Given the description of an element on the screen output the (x, y) to click on. 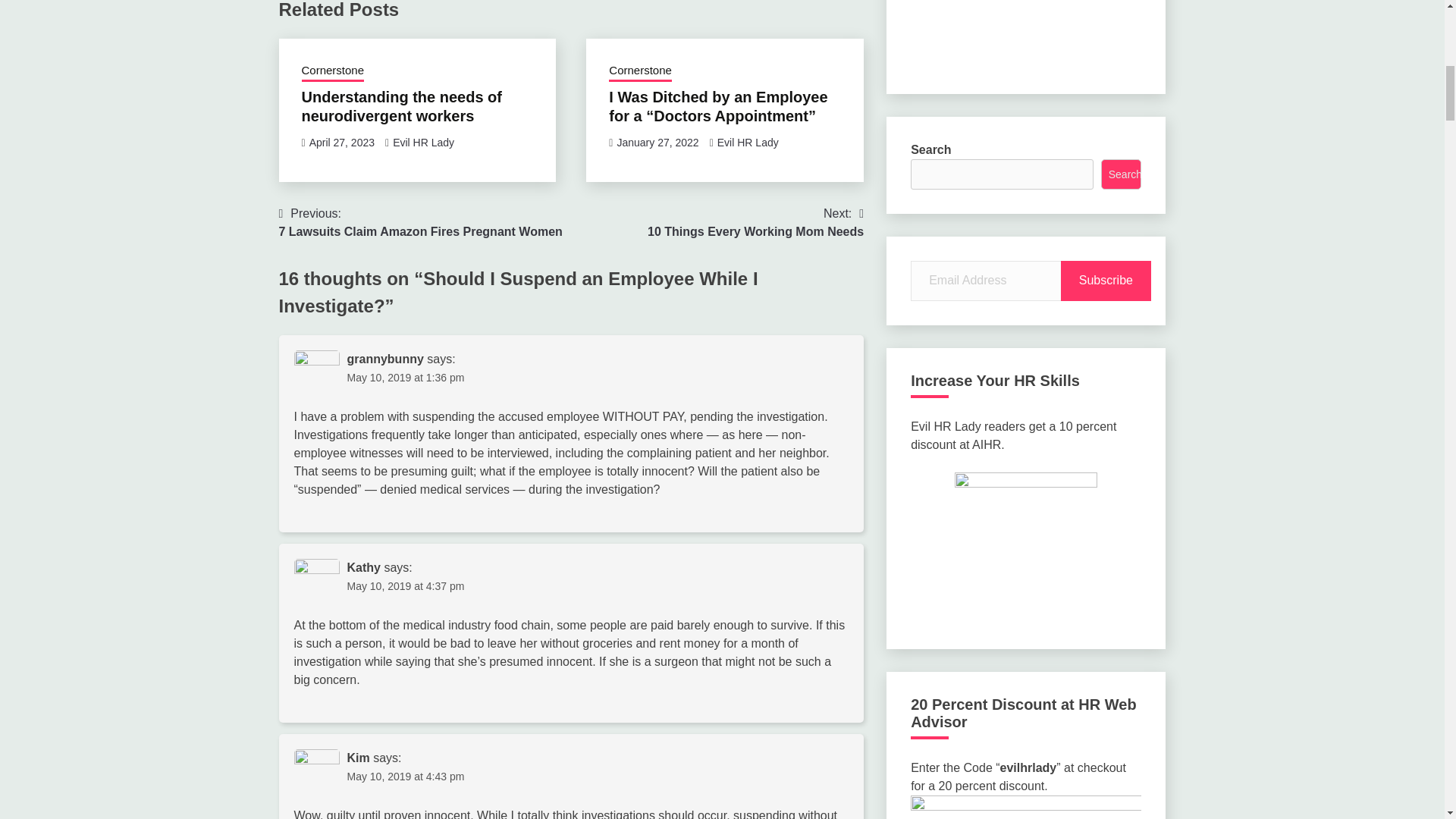
Cornerstone (639, 71)
Please fill in this field. (420, 222)
Evil HR Lady (986, 281)
Cornerstone (423, 142)
May 10, 2019 at 1:36 pm (333, 71)
Evil HR Lady (755, 222)
Understanding the needs of neurodivergent workers (405, 377)
January 27, 2022 (747, 142)
